Given the description of an element on the screen output the (x, y) to click on. 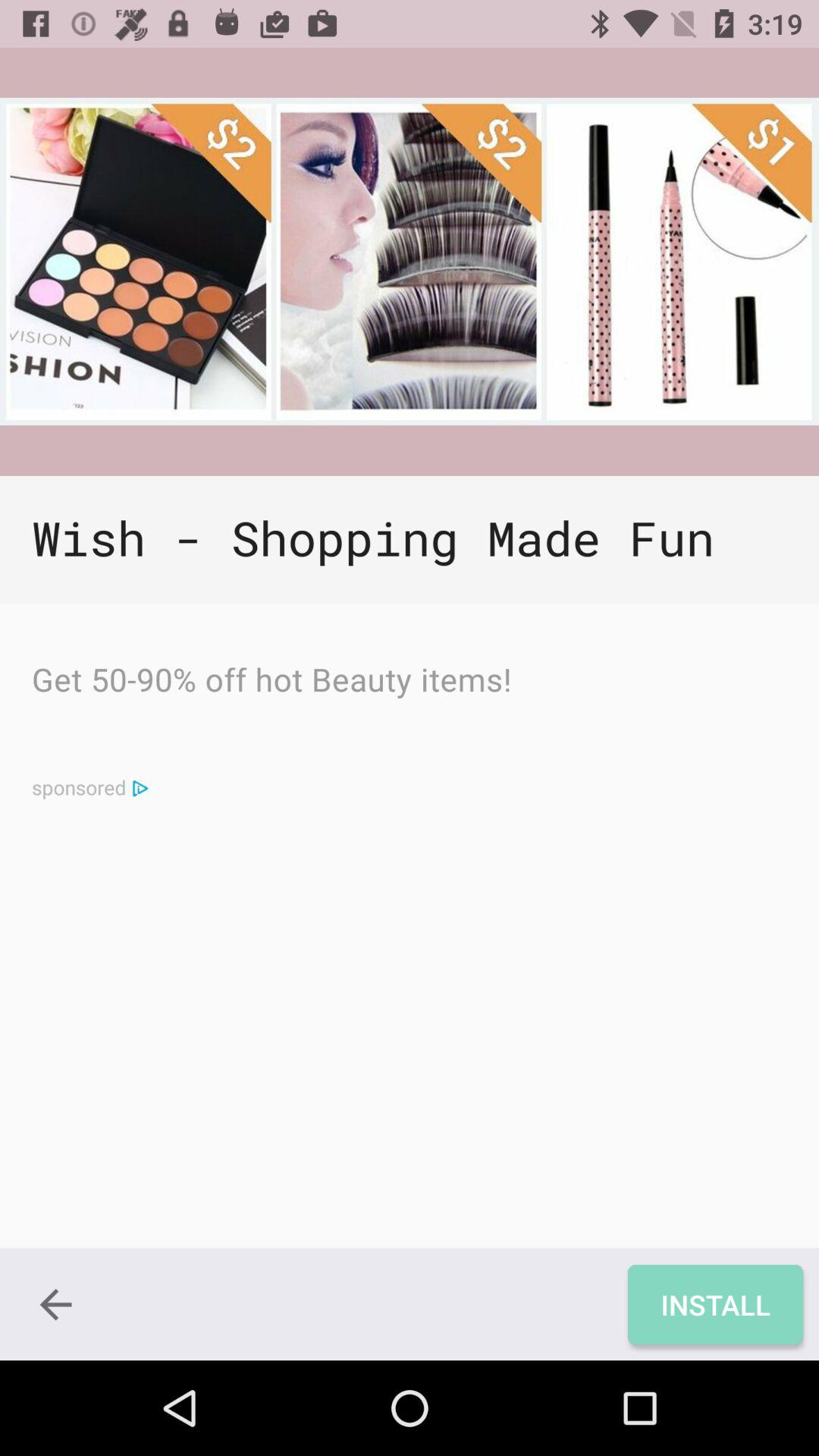
choose icon next to the install icon (55, 1304)
